Given the description of an element on the screen output the (x, y) to click on. 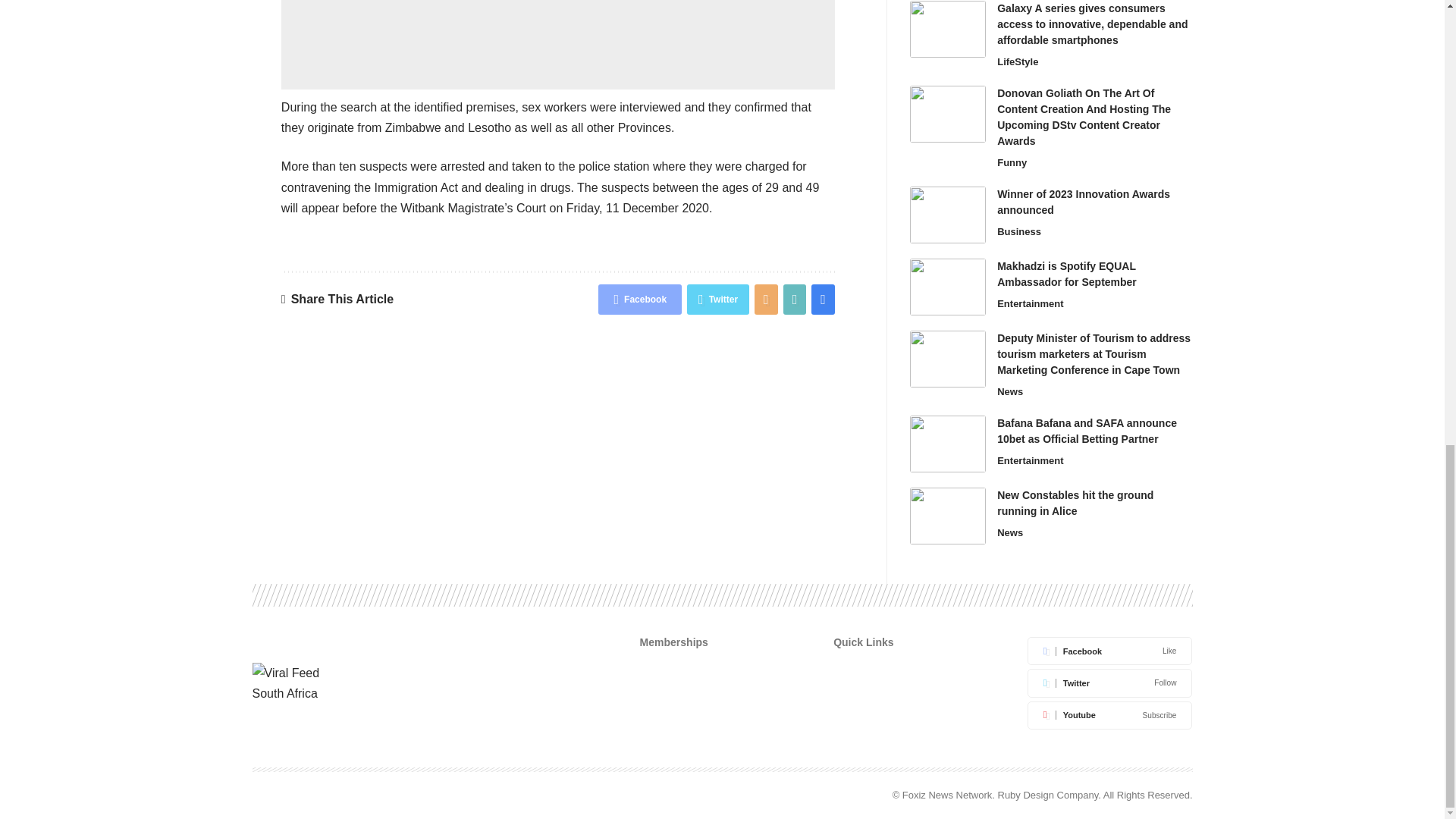
New Constables hit the ground running in Alice (947, 515)
Winner of 2023 Innovation Awards announced (947, 214)
